Given the description of an element on the screen output the (x, y) to click on. 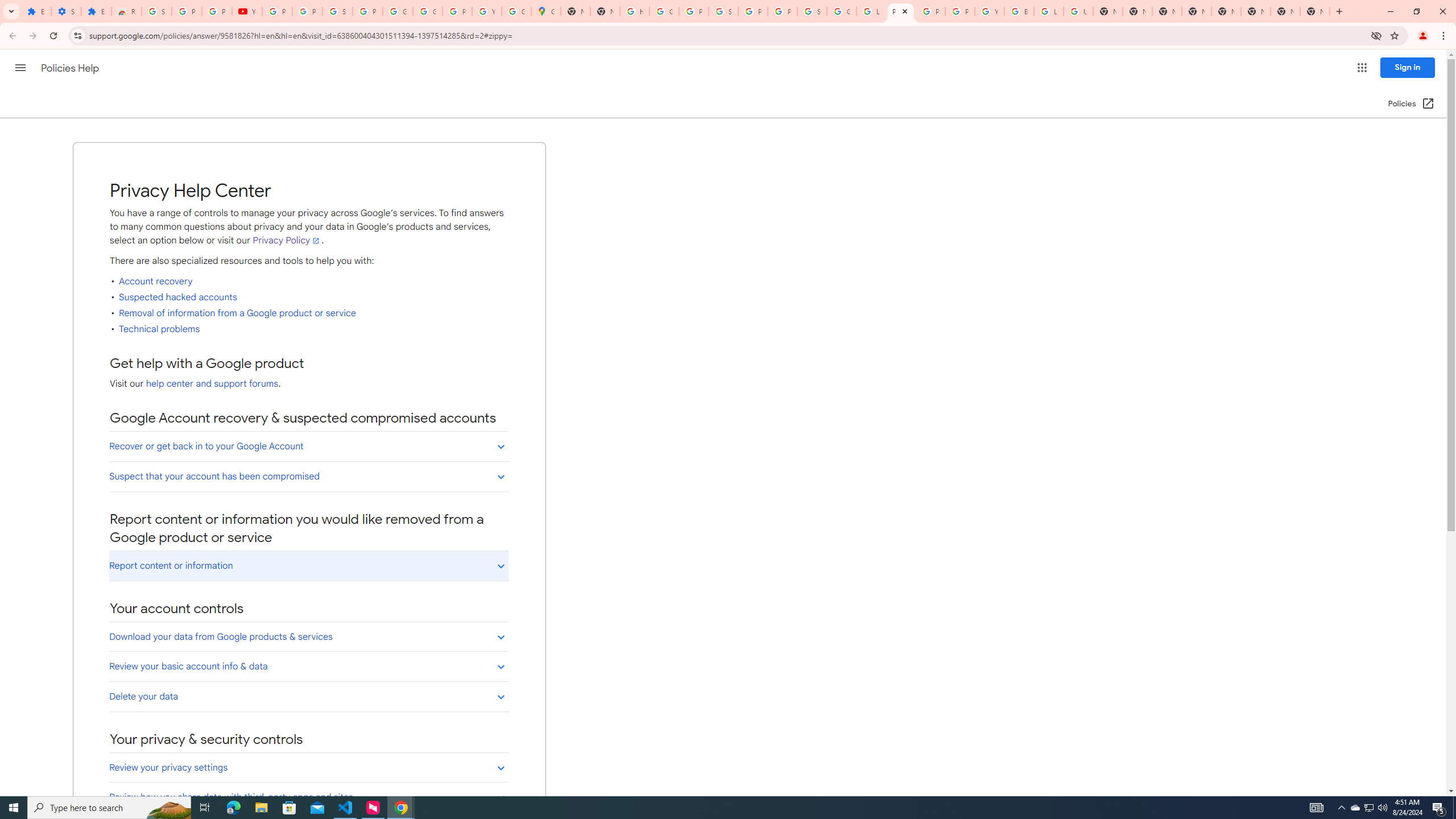
Delete your data (308, 696)
Google apps (1362, 67)
Review your privacy settings (308, 767)
Reviews: Helix Fruit Jump Arcade Game (126, 11)
